Given the description of an element on the screen output the (x, y) to click on. 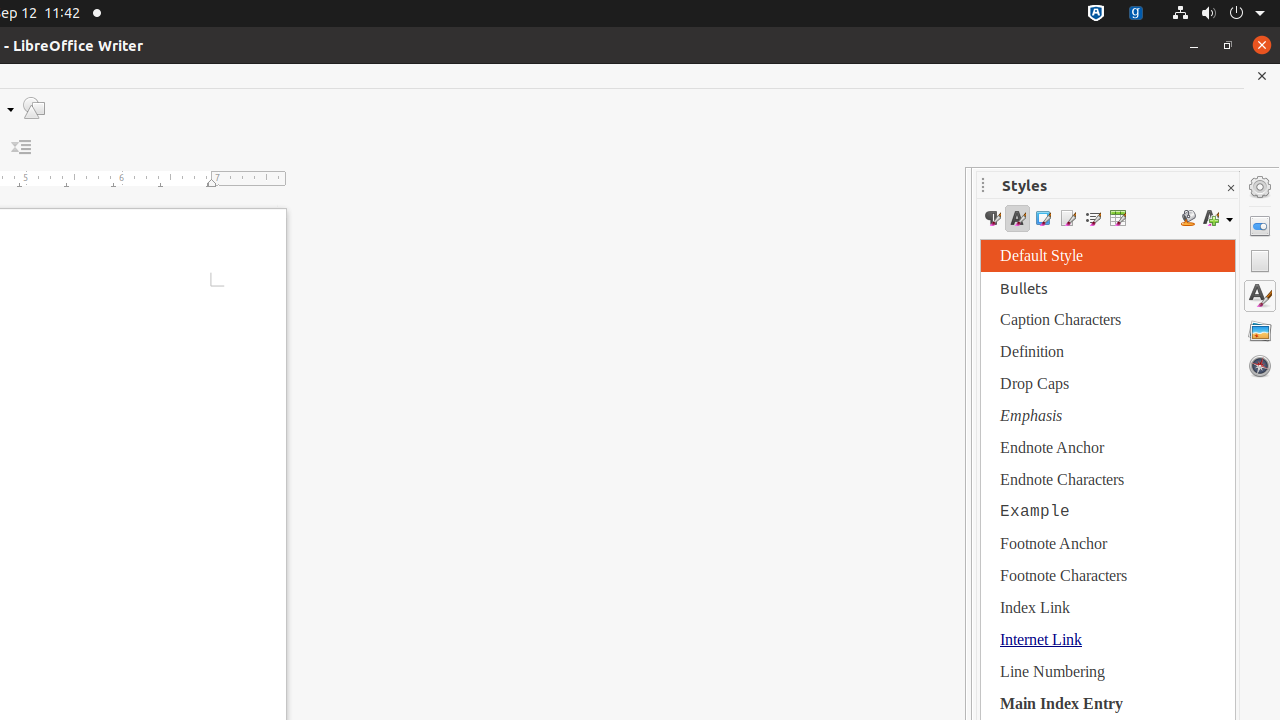
Page Styles Element type: push-button (1067, 218)
Frame Styles Element type: push-button (1042, 218)
Character Styles Element type: push-button (1017, 218)
org.kde.StatusNotifierItem-14077-1 Element type: menu (1136, 13)
Styles actions Element type: push-button (1218, 218)
